Given the description of an element on the screen output the (x, y) to click on. 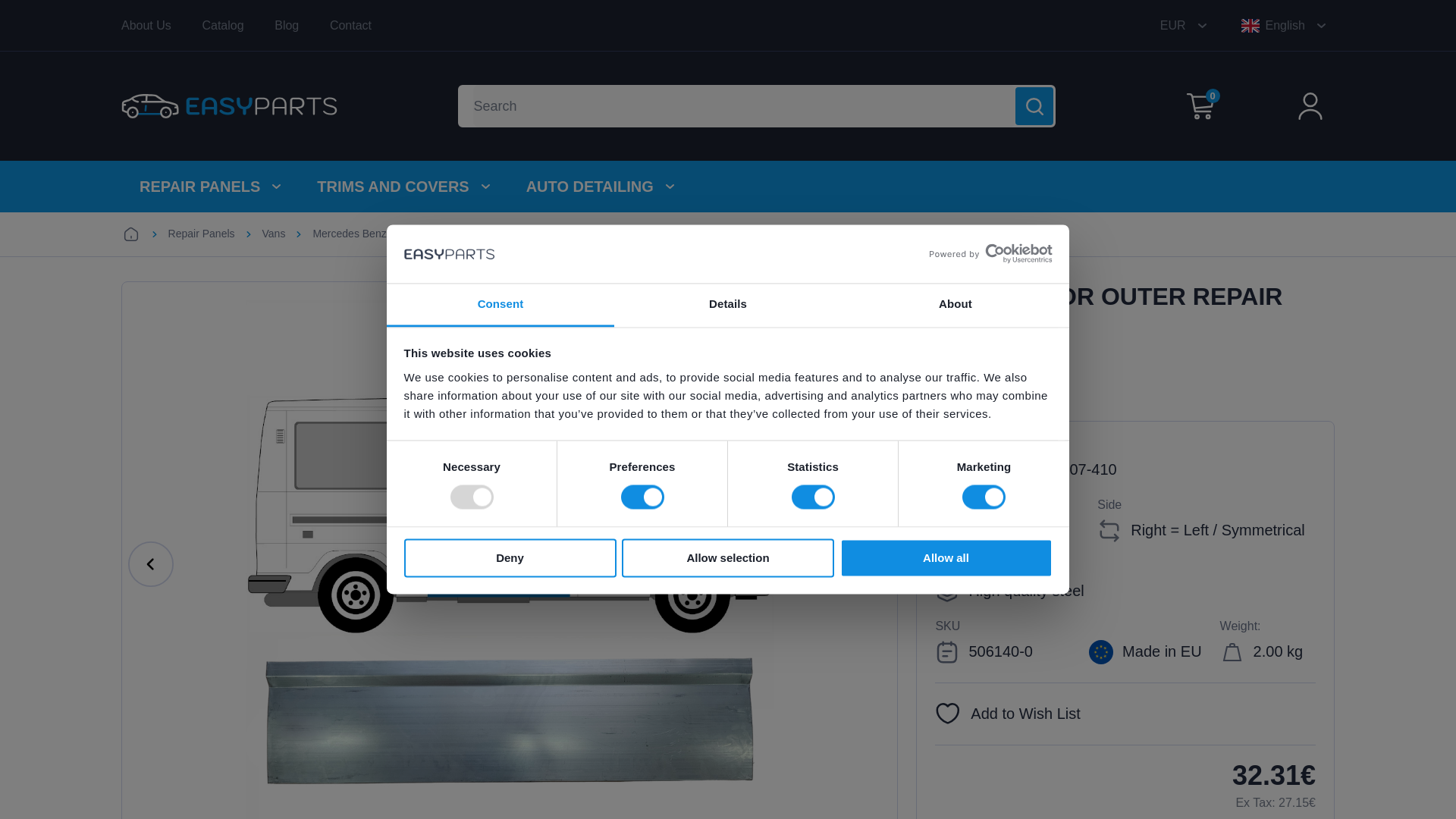
Consent (500, 304)
Add to Wish List (1007, 714)
Details (727, 304)
About (954, 304)
EasyParts (228, 105)
